Given the description of an element on the screen output the (x, y) to click on. 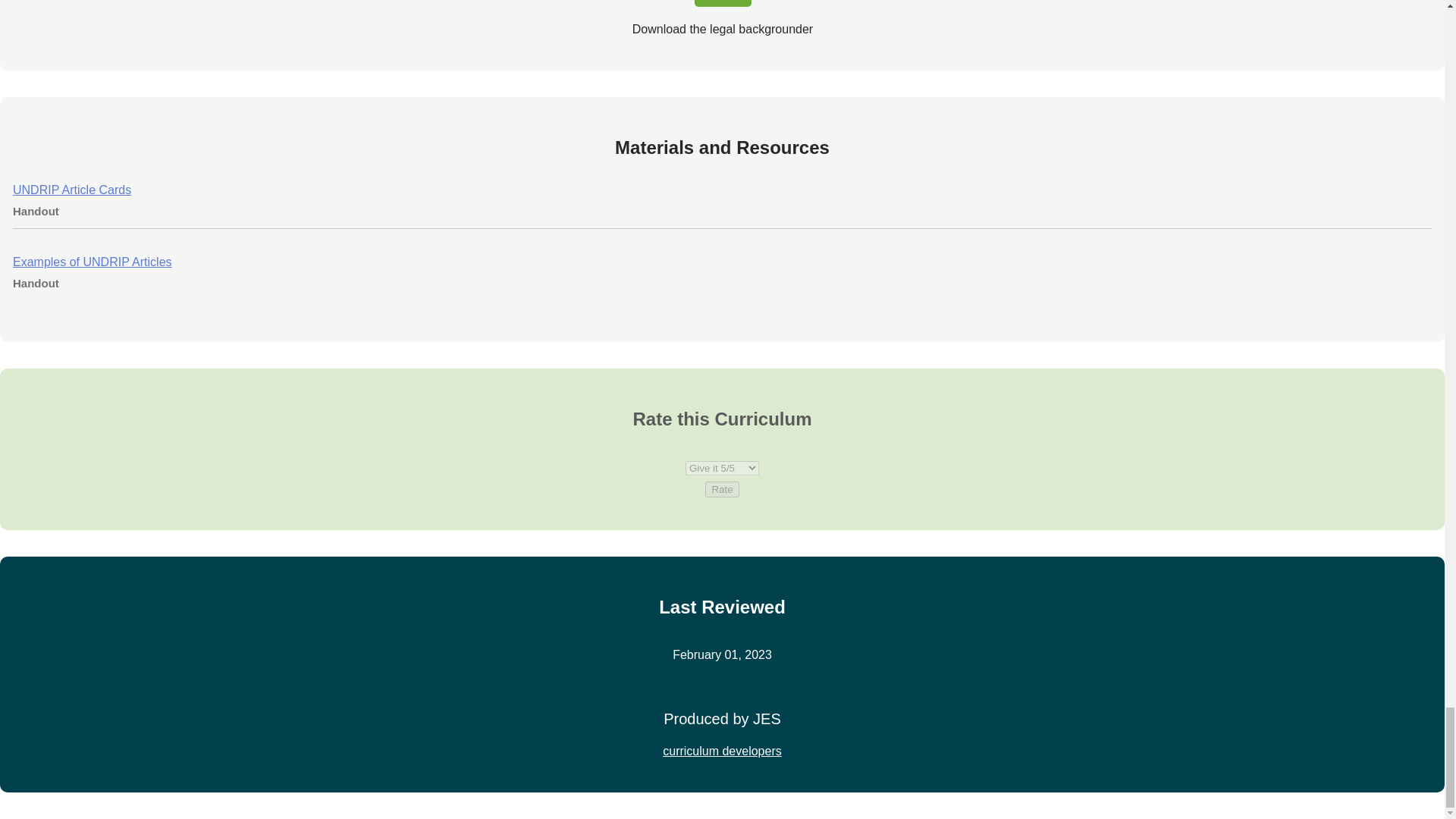
curriculum developers (721, 750)
